Given the description of an element on the screen output the (x, y) to click on. 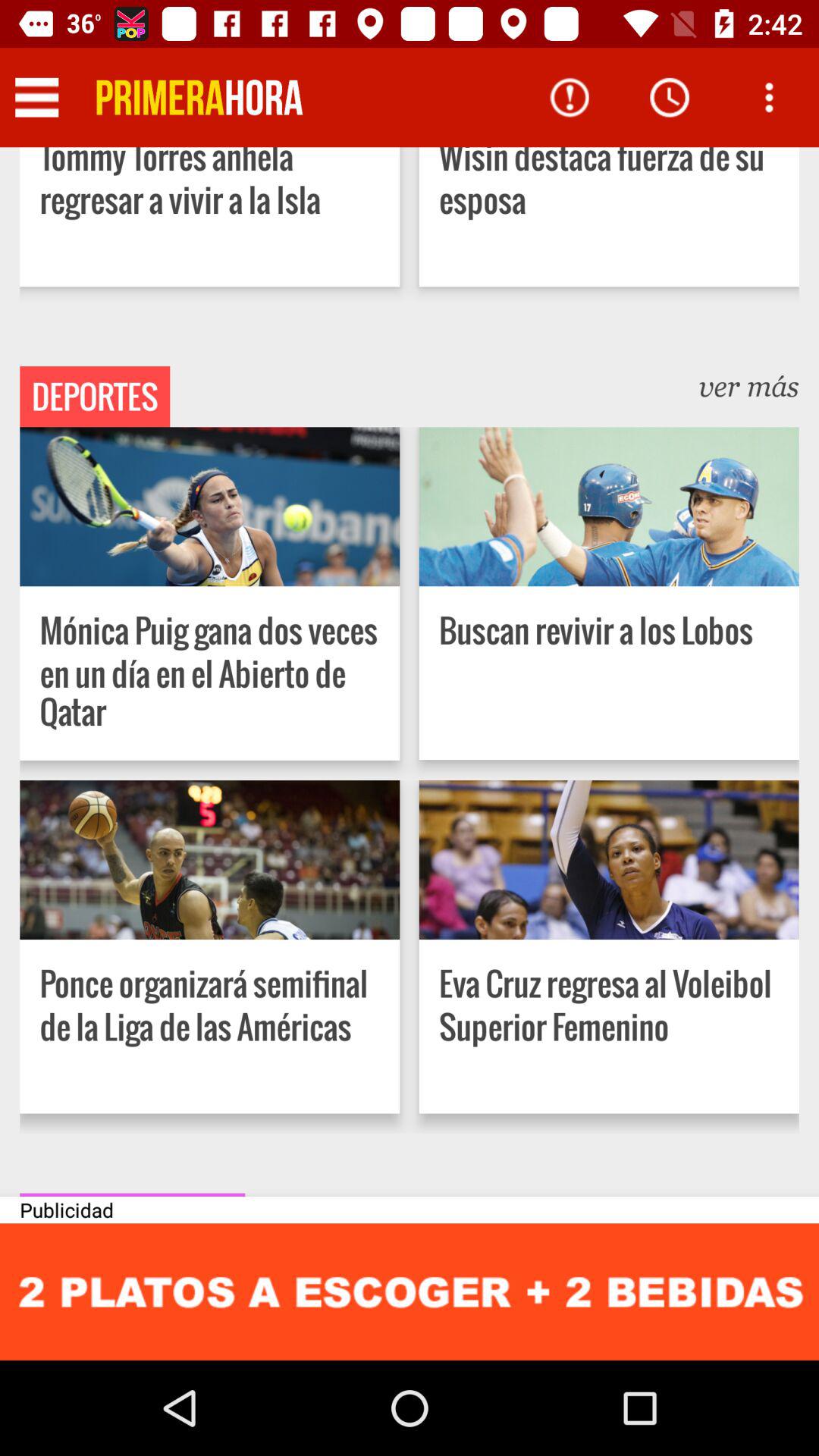
launch estilos de vida icon (132, 1194)
